Given the description of an element on the screen output the (x, y) to click on. 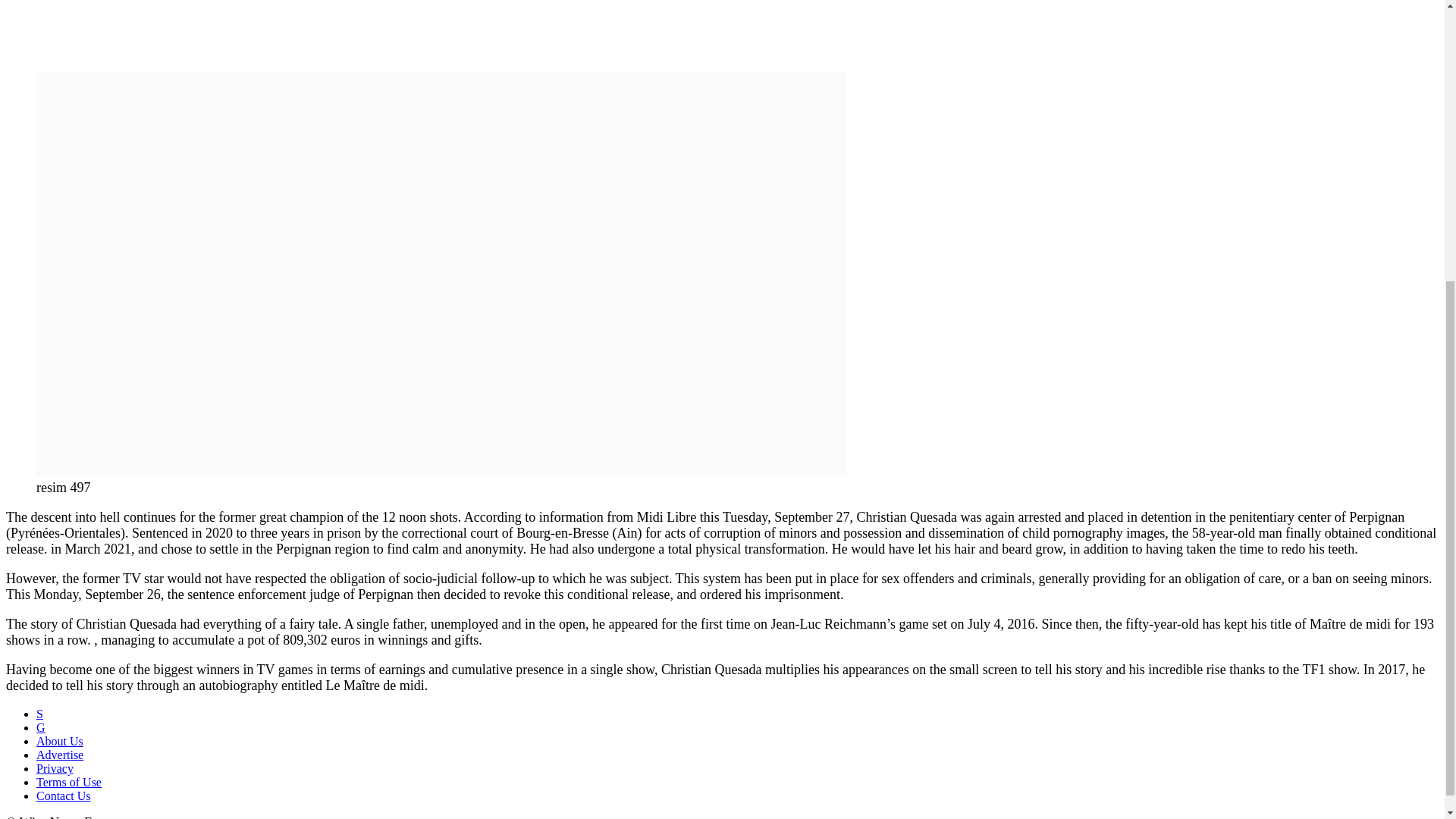
Advertise (59, 754)
About Us (59, 740)
Contact Us (63, 795)
Privacy (55, 768)
Terms of Use (68, 781)
